Given the description of an element on the screen output the (x, y) to click on. 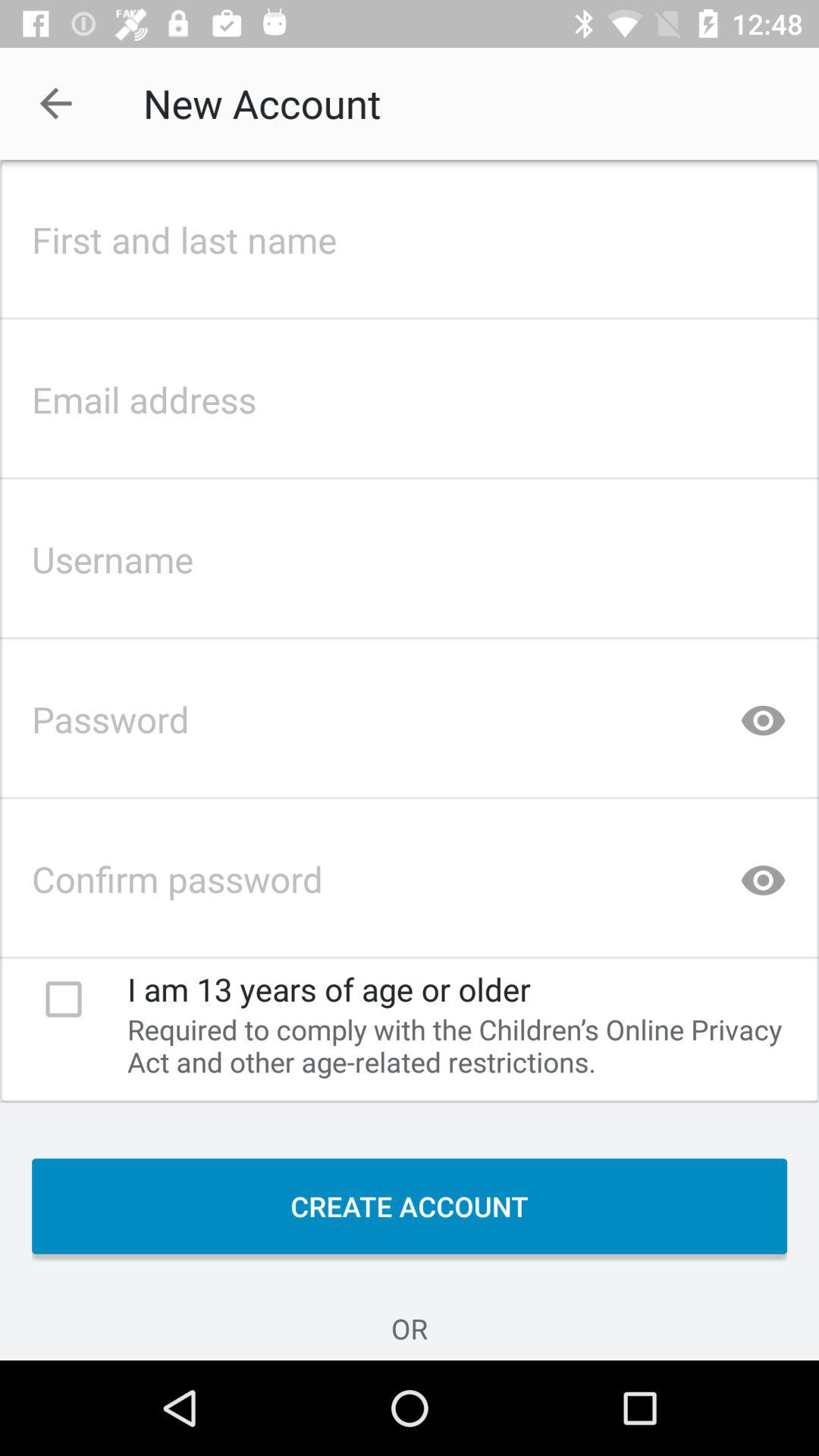
username column (409, 554)
